Given the description of an element on the screen output the (x, y) to click on. 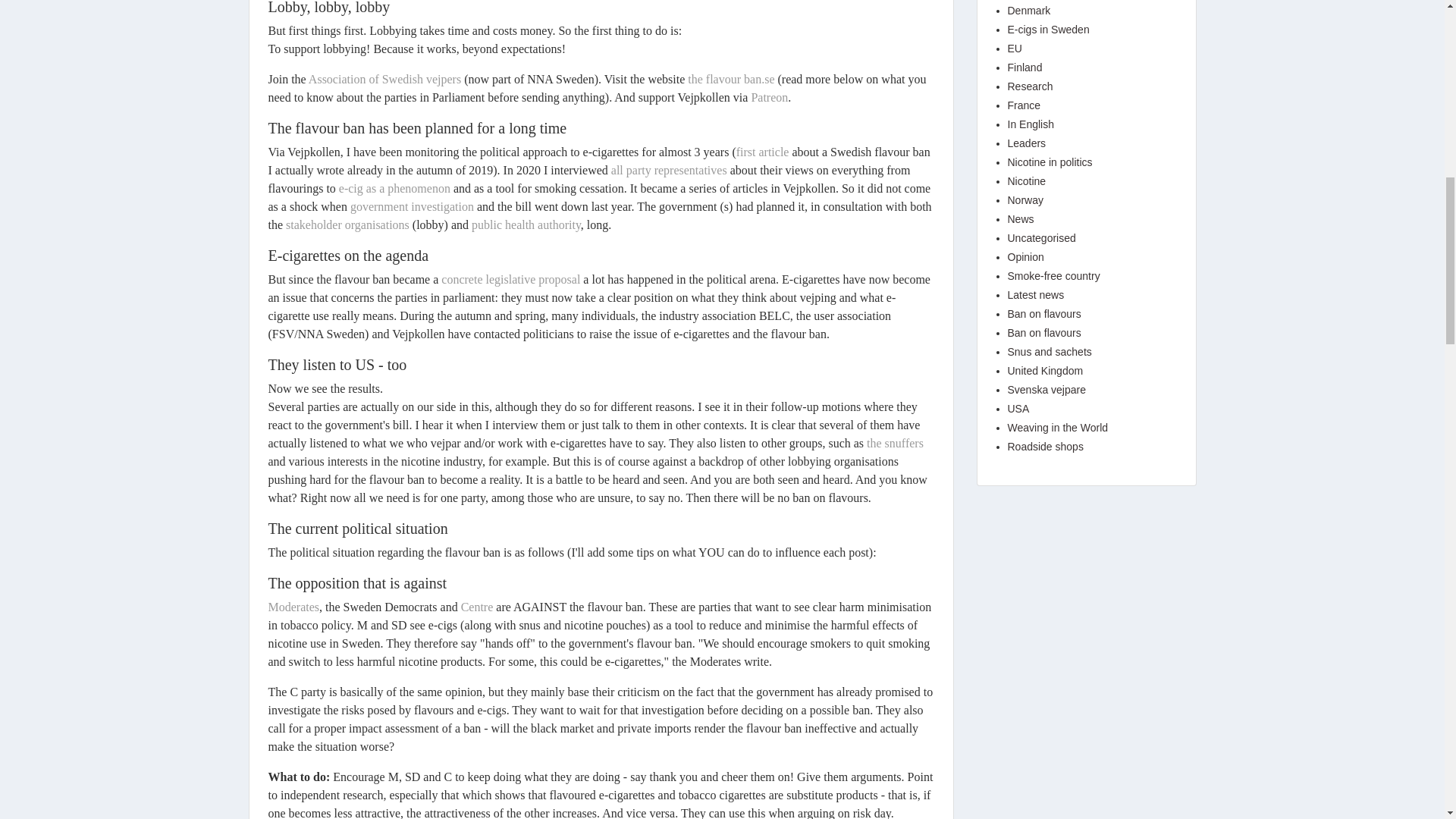
the snuffers (894, 442)
Patreon (769, 97)
e-cig as a phenomenon (394, 187)
stakeholder organisations (347, 224)
Moderates (293, 606)
concrete legislative proposal (510, 278)
government investigation (413, 205)
the flavour ban.se (730, 78)
public health authority (525, 224)
all party representatives (668, 169)
